Given the description of an element on the screen output the (x, y) to click on. 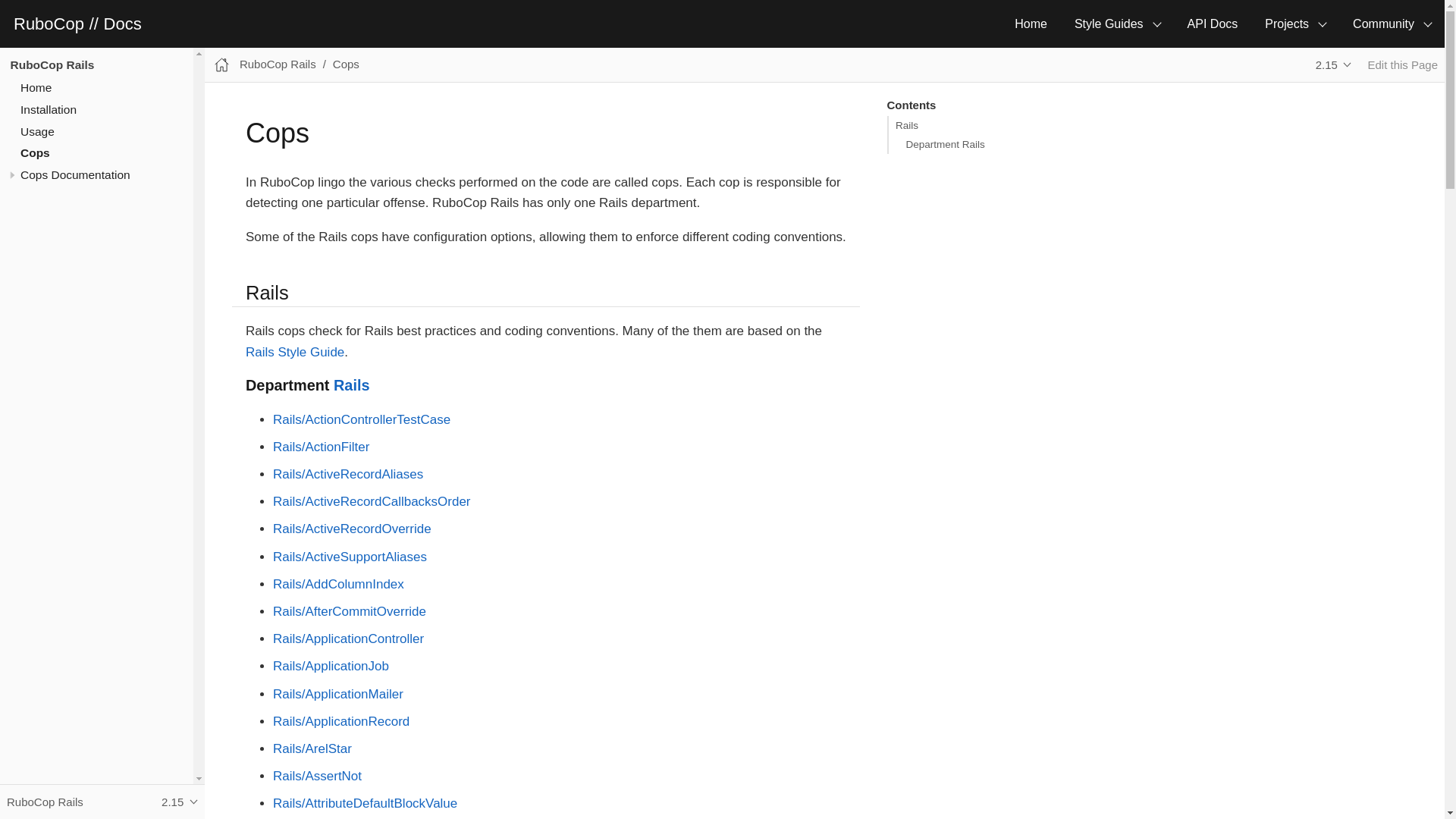
Style Guides (1117, 23)
Installation (48, 109)
RuboCop (50, 23)
Usage (37, 131)
Projects (1294, 23)
Home (1031, 23)
API Docs (1212, 23)
Docs (122, 23)
Cops (34, 152)
Home (35, 87)
RuboCop Rails (52, 64)
Show other versions of page (1333, 64)
